Given the description of an element on the screen output the (x, y) to click on. 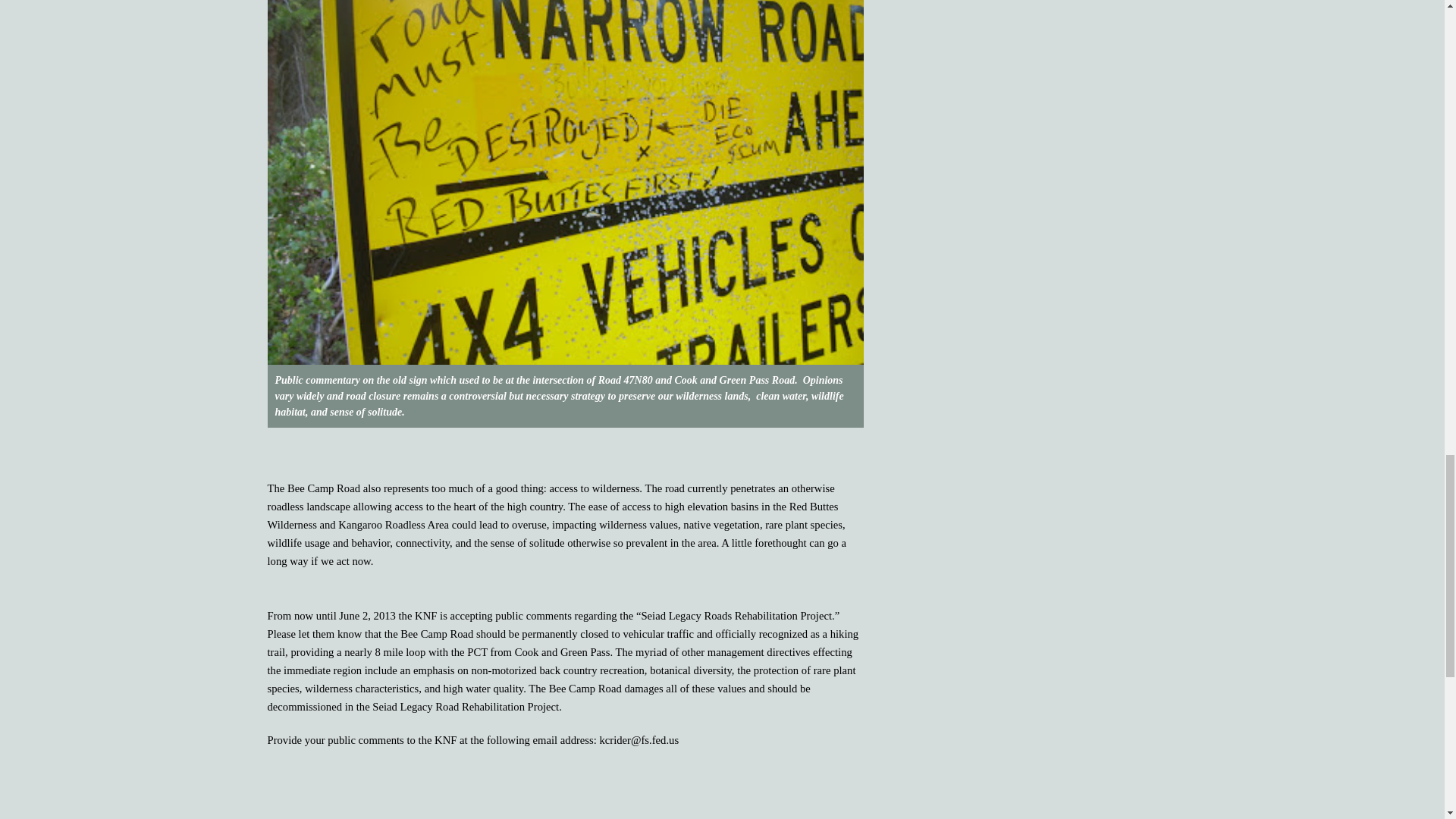
Previous (299, 816)
Next (839, 816)
